Given the description of an element on the screen output the (x, y) to click on. 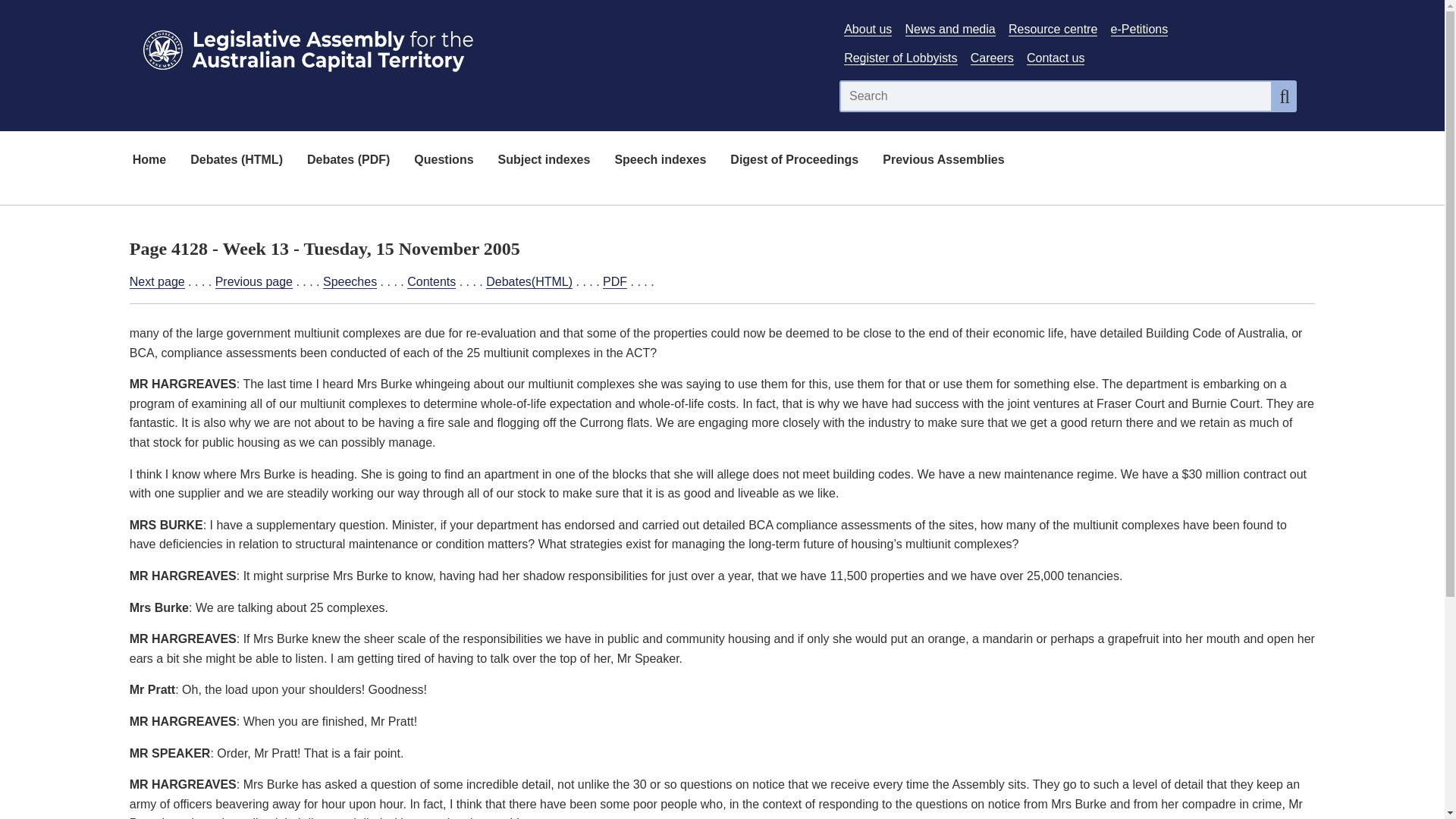
Resource centre (1053, 29)
Contents (431, 282)
Speeches (350, 282)
Link to Careers (992, 58)
Link to About Us (867, 29)
Careers (992, 58)
PDF (614, 282)
Next page (156, 282)
Register of Lobbyists (900, 58)
News and media (950, 29)
Previous page (253, 282)
Link to e-Petitions (1139, 29)
About us (867, 29)
Questions (442, 160)
Previous Assemblies (943, 160)
